Given the description of an element on the screen output the (x, y) to click on. 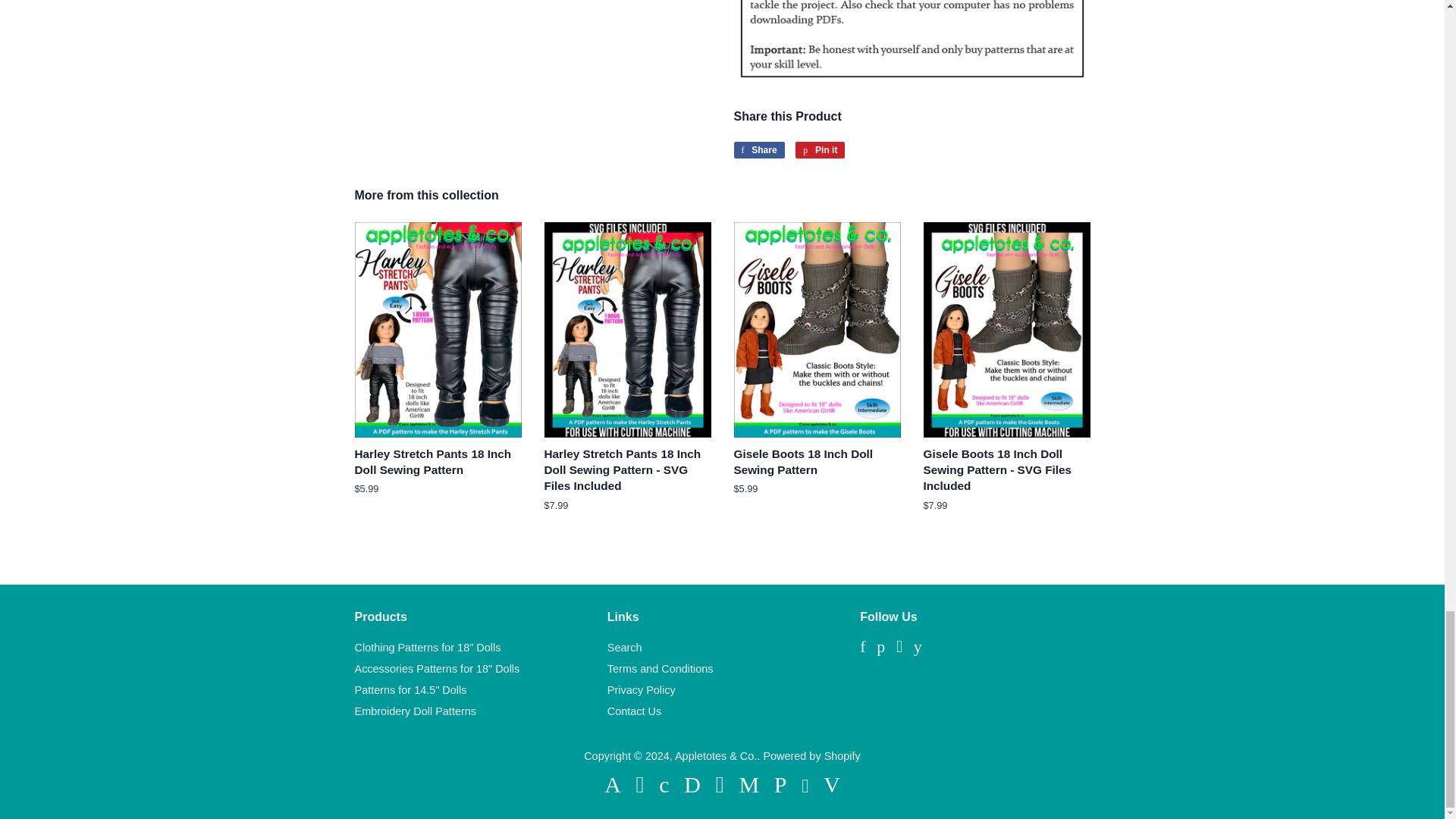
Share on Facebook (758, 149)
Pin on Pinterest (819, 149)
